Given the description of an element on the screen output the (x, y) to click on. 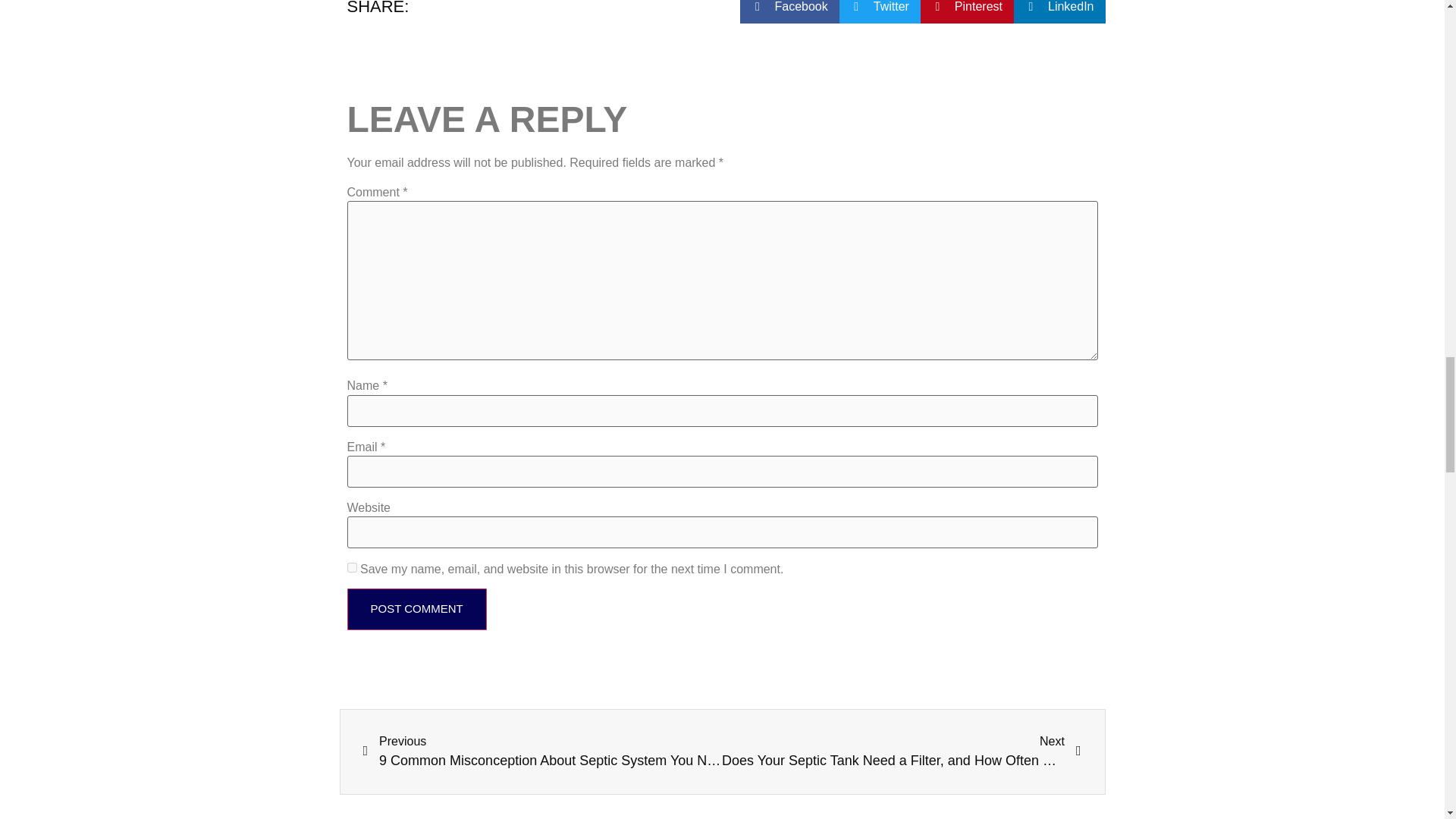
Post Comment (416, 608)
Post Comment (416, 608)
yes (351, 567)
